Given the description of an element on the screen output the (x, y) to click on. 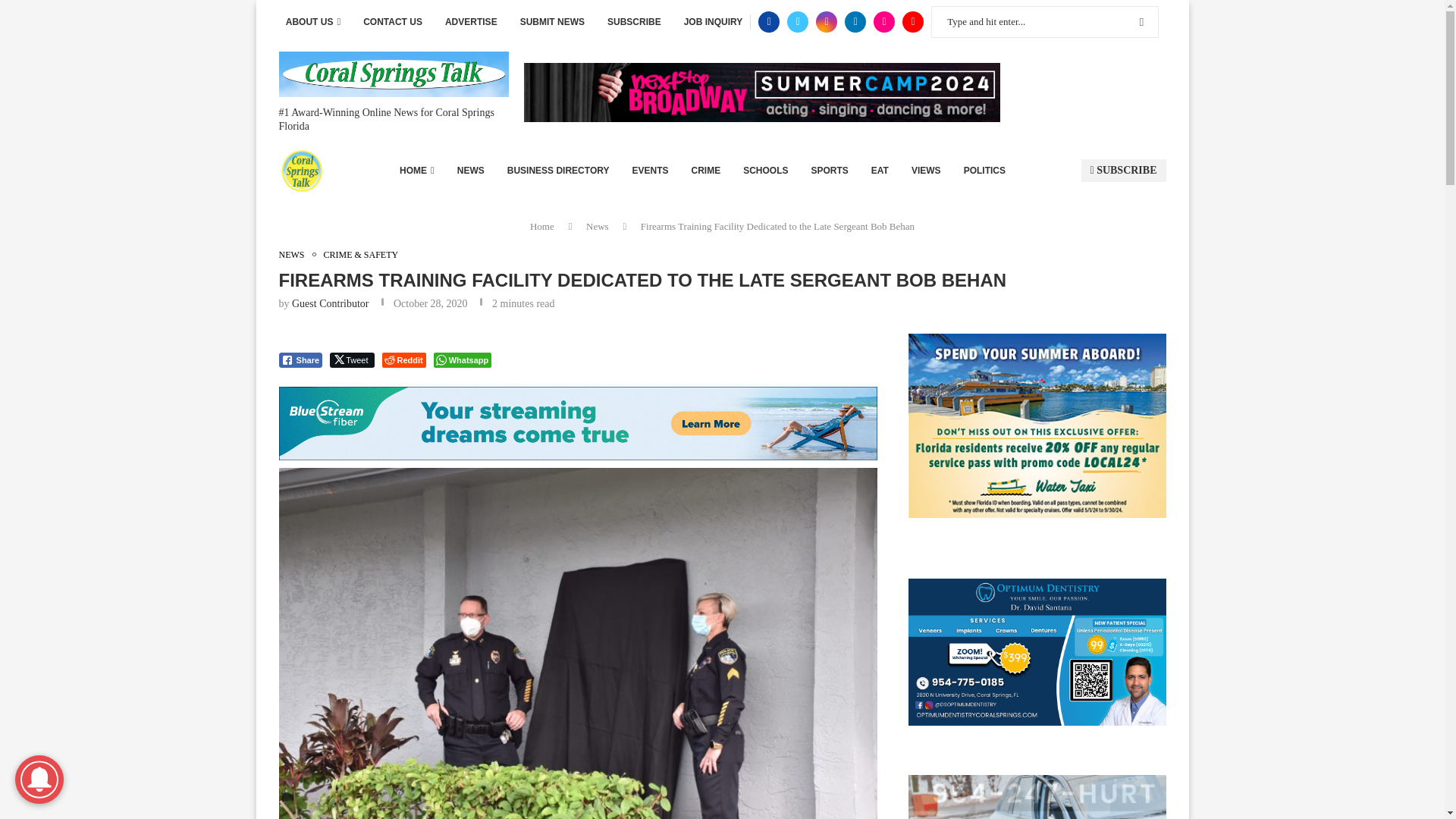
ADVERTISE (471, 22)
SUBMIT NEWS (552, 22)
SUBSCRIBE (634, 22)
JOB INQUIRY (713, 22)
CONTACT US (392, 22)
ABOUT US (312, 22)
BUSINESS DIRECTORY (558, 170)
